Given the description of an element on the screen output the (x, y) to click on. 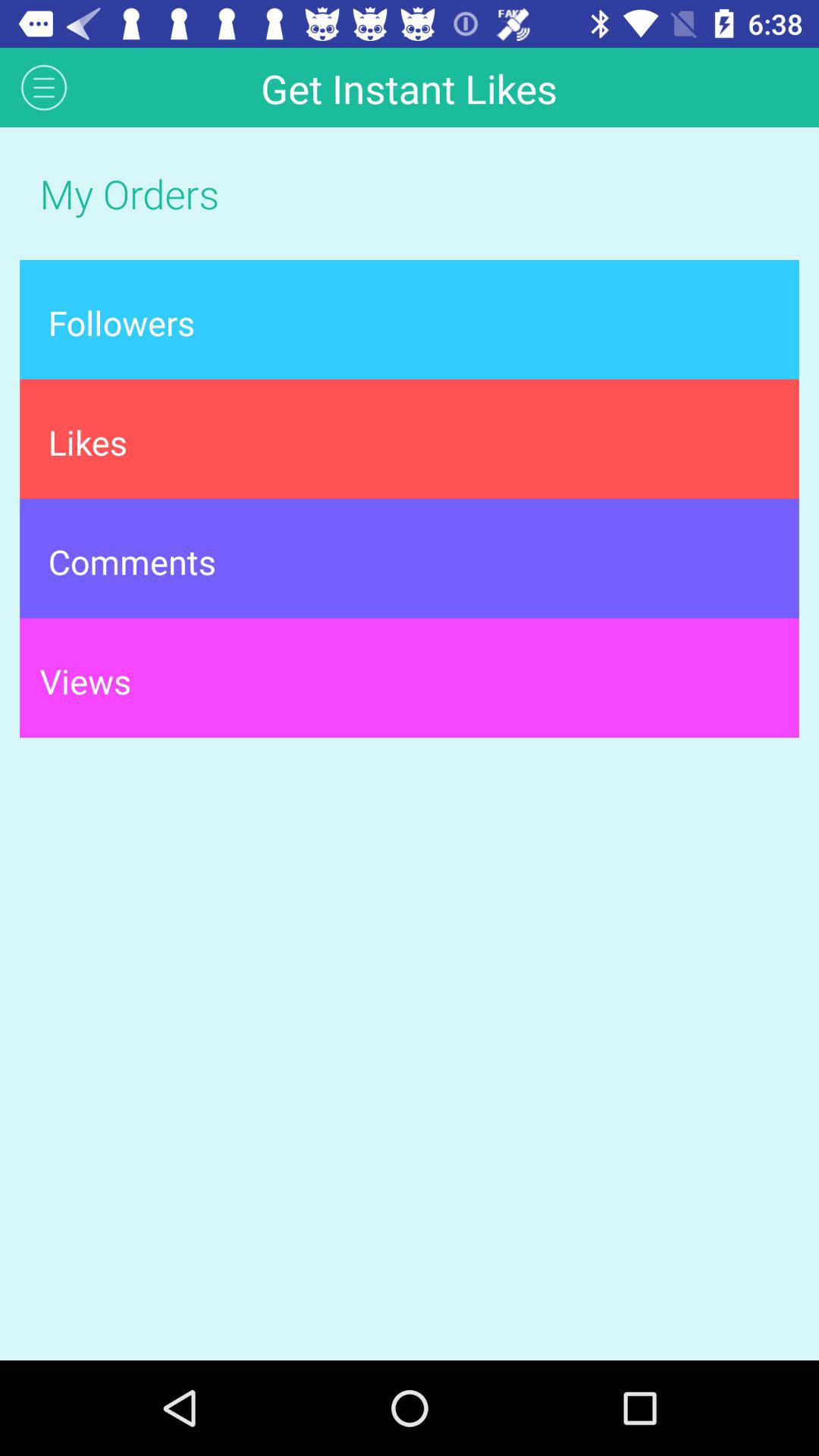
tap the icon next to get instant likes app (44, 87)
